Given the description of an element on the screen output the (x, y) to click on. 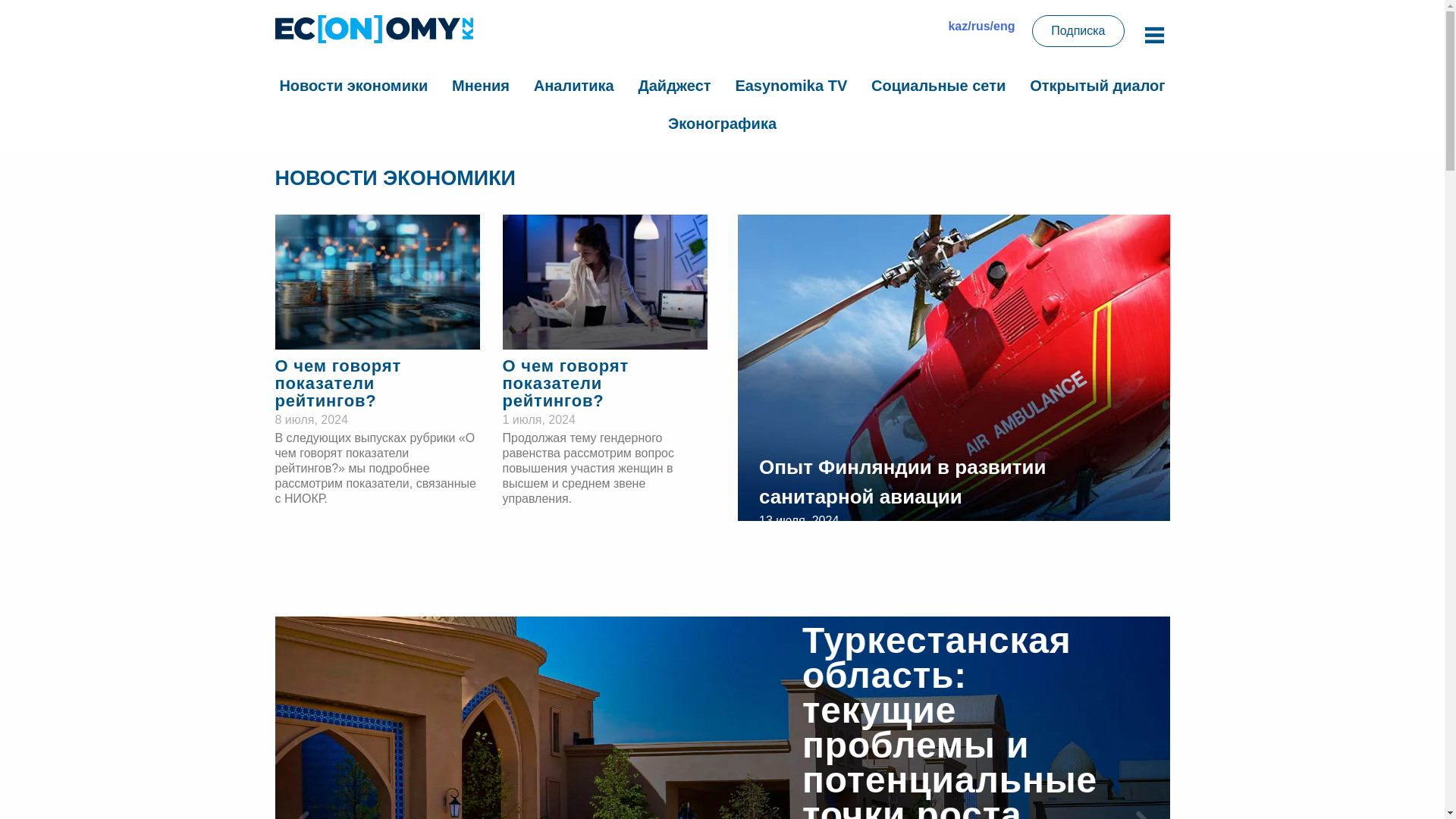
kaz (957, 25)
Easynomika TV (790, 85)
